Given the description of an element on the screen output the (x, y) to click on. 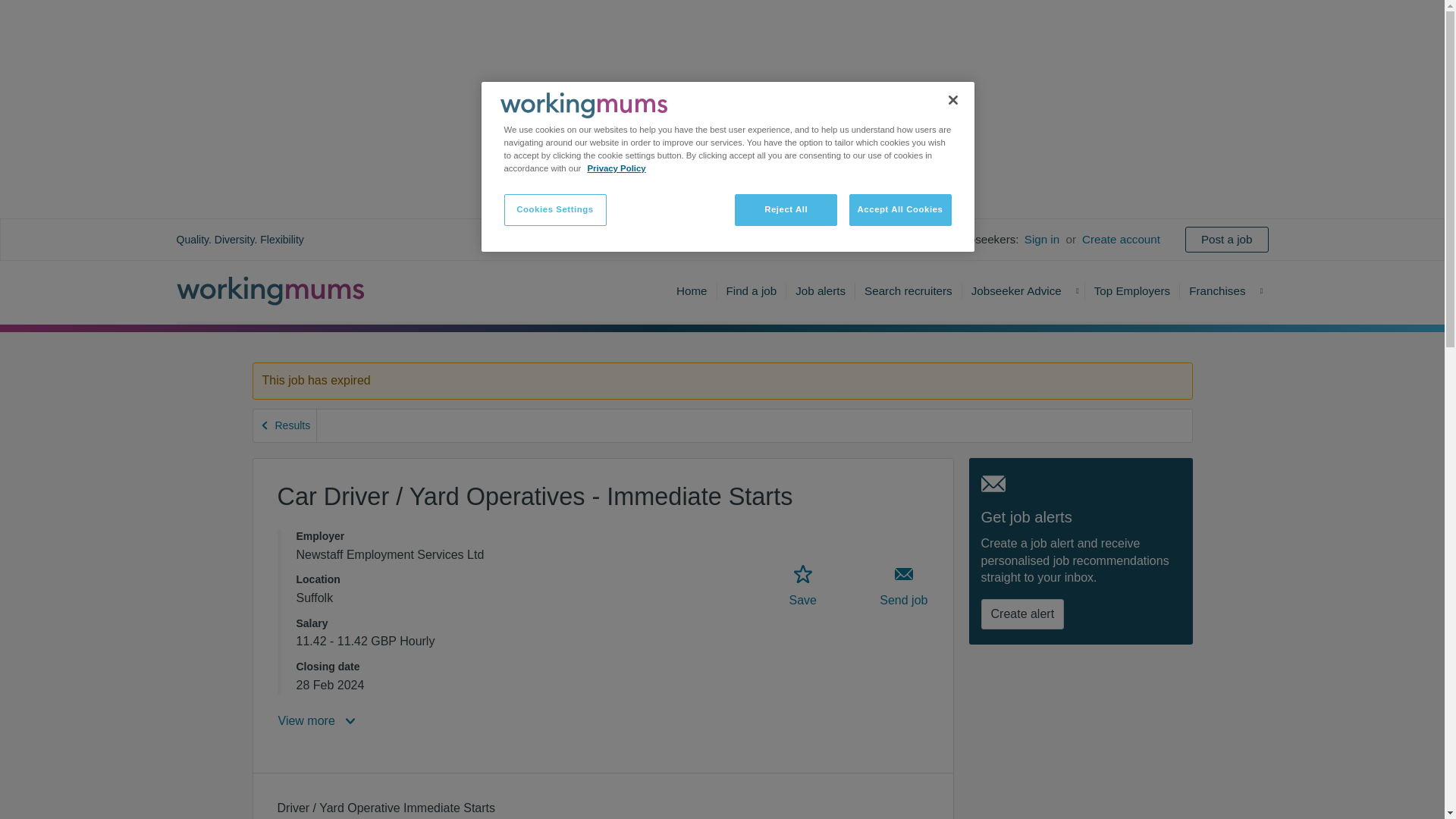
Results (285, 425)
Create account (1120, 239)
Home (692, 290)
Franchises (1216, 290)
Search recruiters (908, 290)
Working Dads (583, 104)
Workingmums.co.uk (270, 290)
Top Employers (1132, 290)
Post a job (1226, 238)
View more (318, 720)
Jobseeker Advice (1016, 290)
Find a job (751, 290)
Sign in (1041, 239)
Job alerts (819, 290)
